Given the description of an element on the screen output the (x, y) to click on. 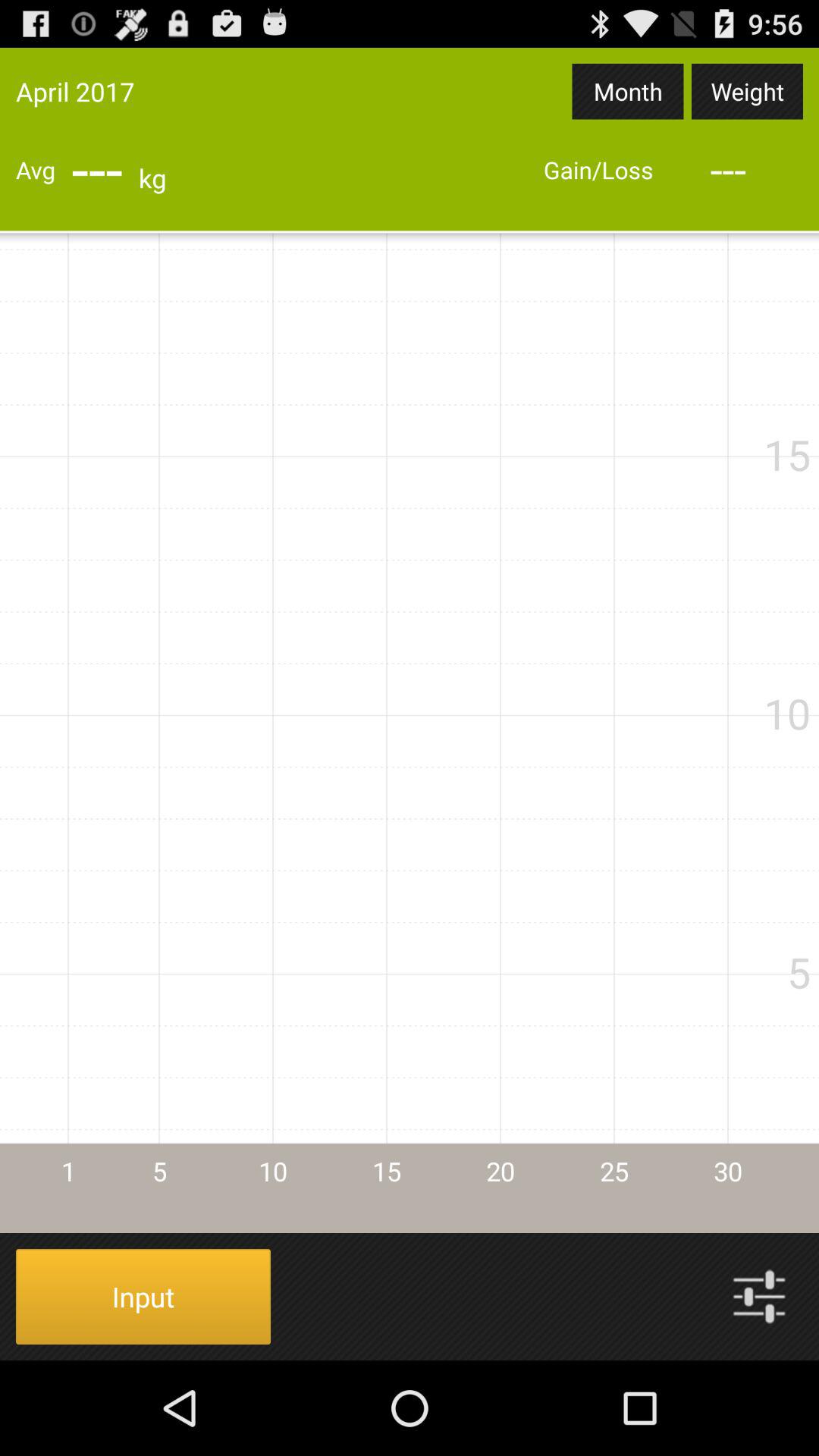
turn on month (627, 91)
